Given the description of an element on the screen output the (x, y) to click on. 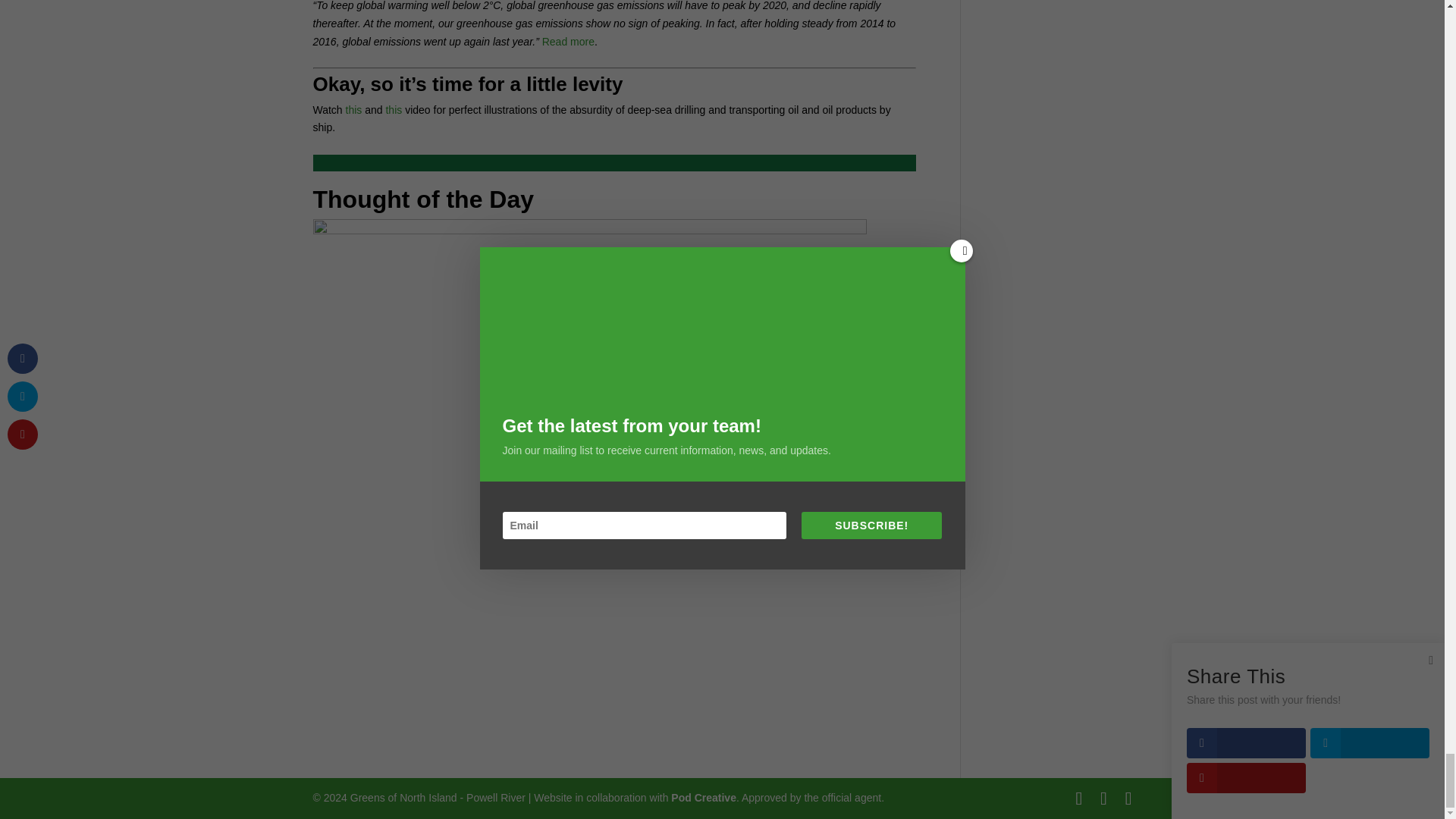
Pod Creative (703, 797)
